Given the description of an element on the screen output the (x, y) to click on. 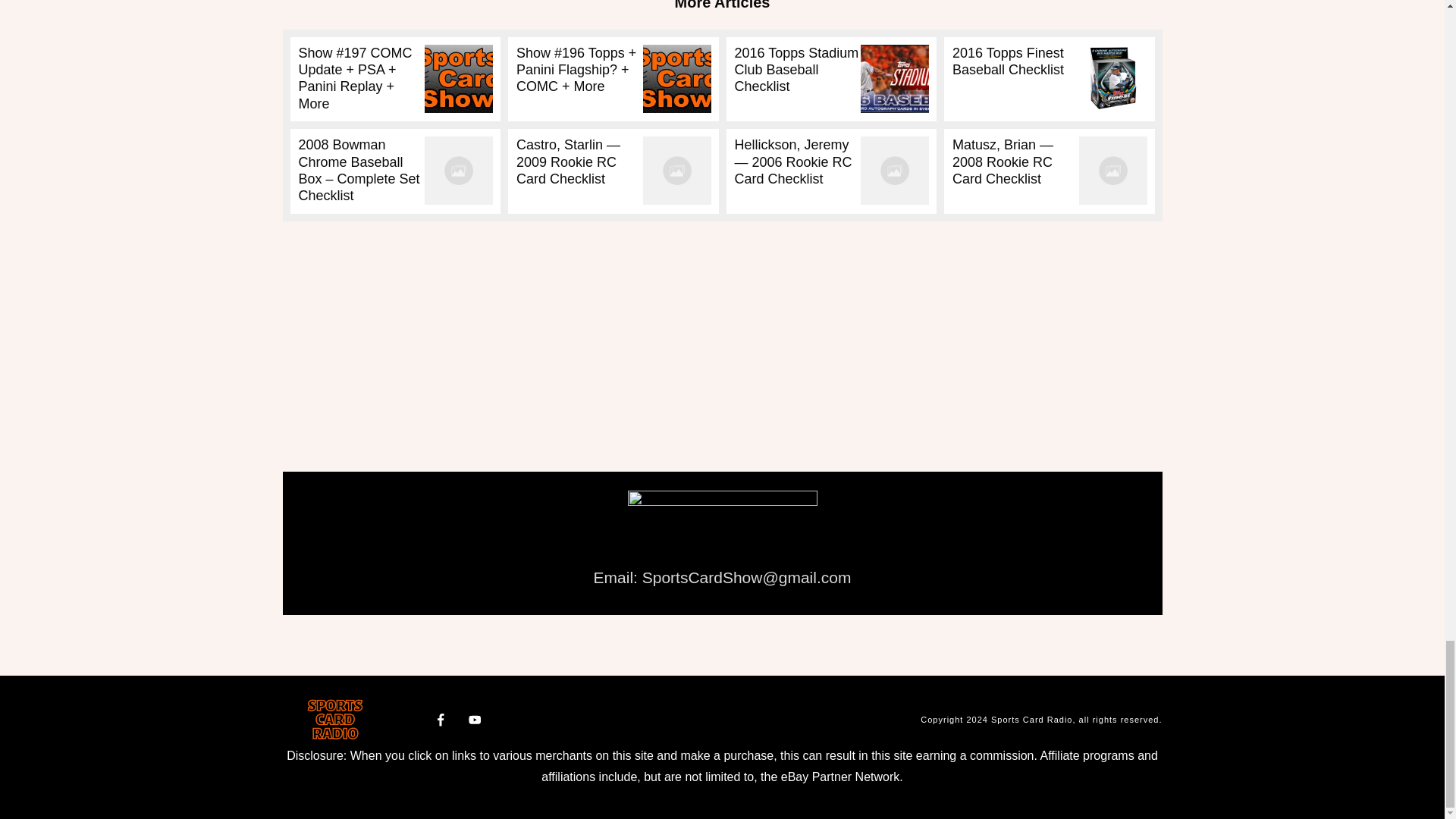
Got A Tip-2 (721, 524)
2016 Topps Finest Baseball Checklist (1008, 60)
2016 Topps Stadium Club Baseball Checklist (796, 70)
